Given the description of an element on the screen output the (x, y) to click on. 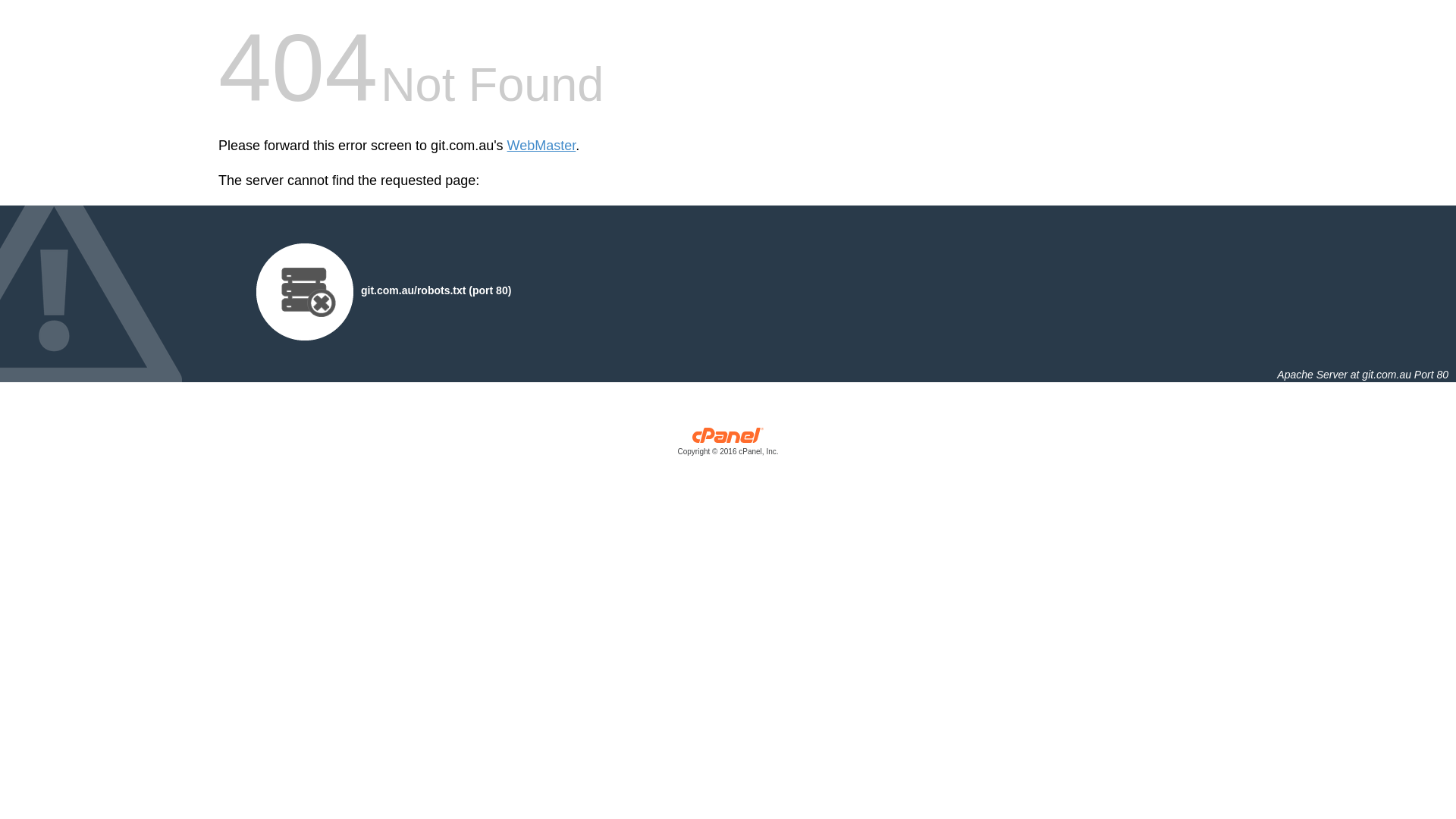
WebMaster Element type: text (541, 145)
